Given the description of an element on the screen output the (x, y) to click on. 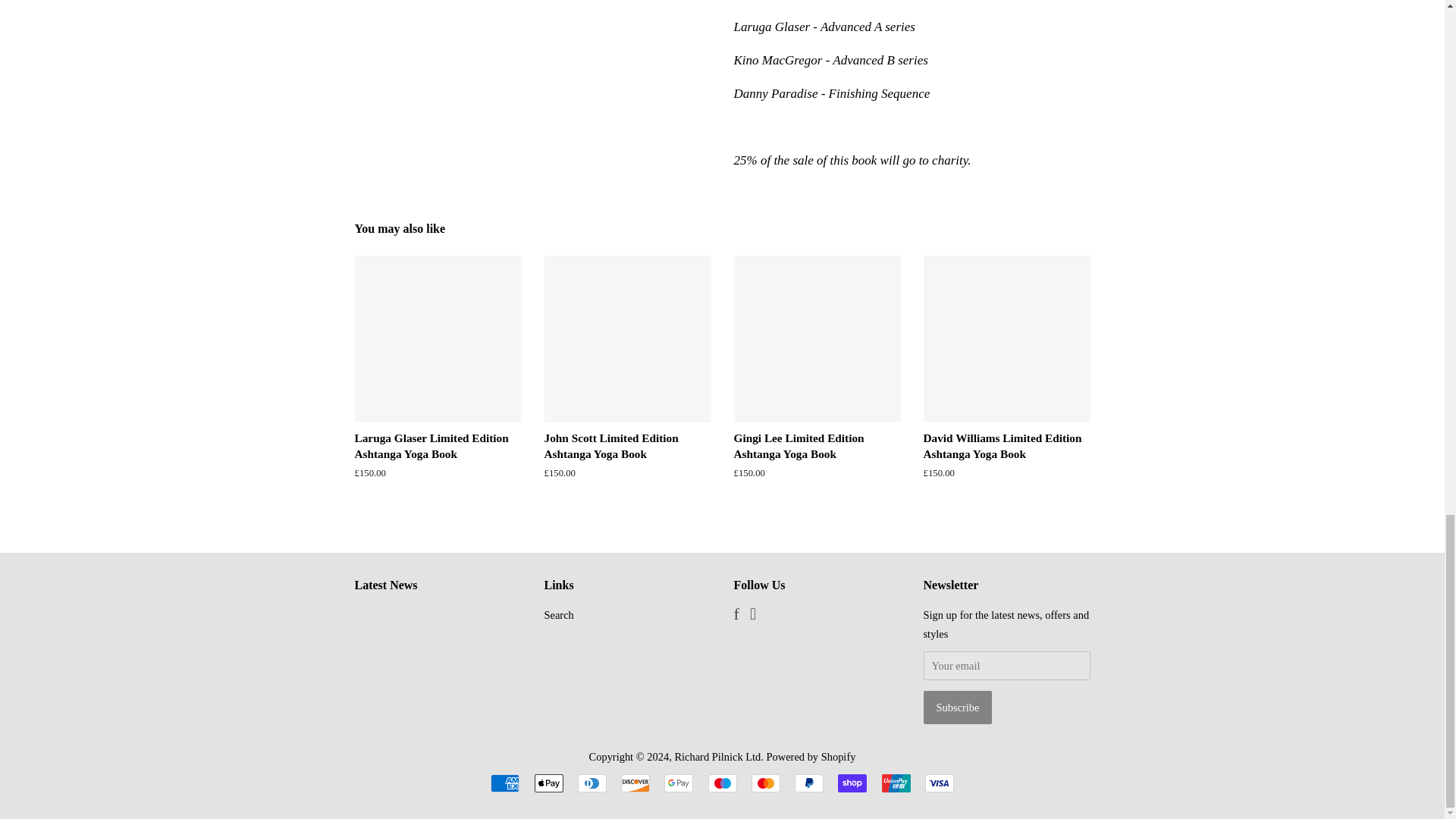
Diners Club (592, 782)
Maestro (721, 782)
American Express (504, 782)
PayPal (809, 782)
Apple Pay (548, 782)
Subscribe (957, 707)
Mastercard (765, 782)
Discover (635, 782)
Visa (938, 782)
Google Pay (678, 782)
Shop Pay (852, 782)
Union Pay (895, 782)
